Given the description of an element on the screen output the (x, y) to click on. 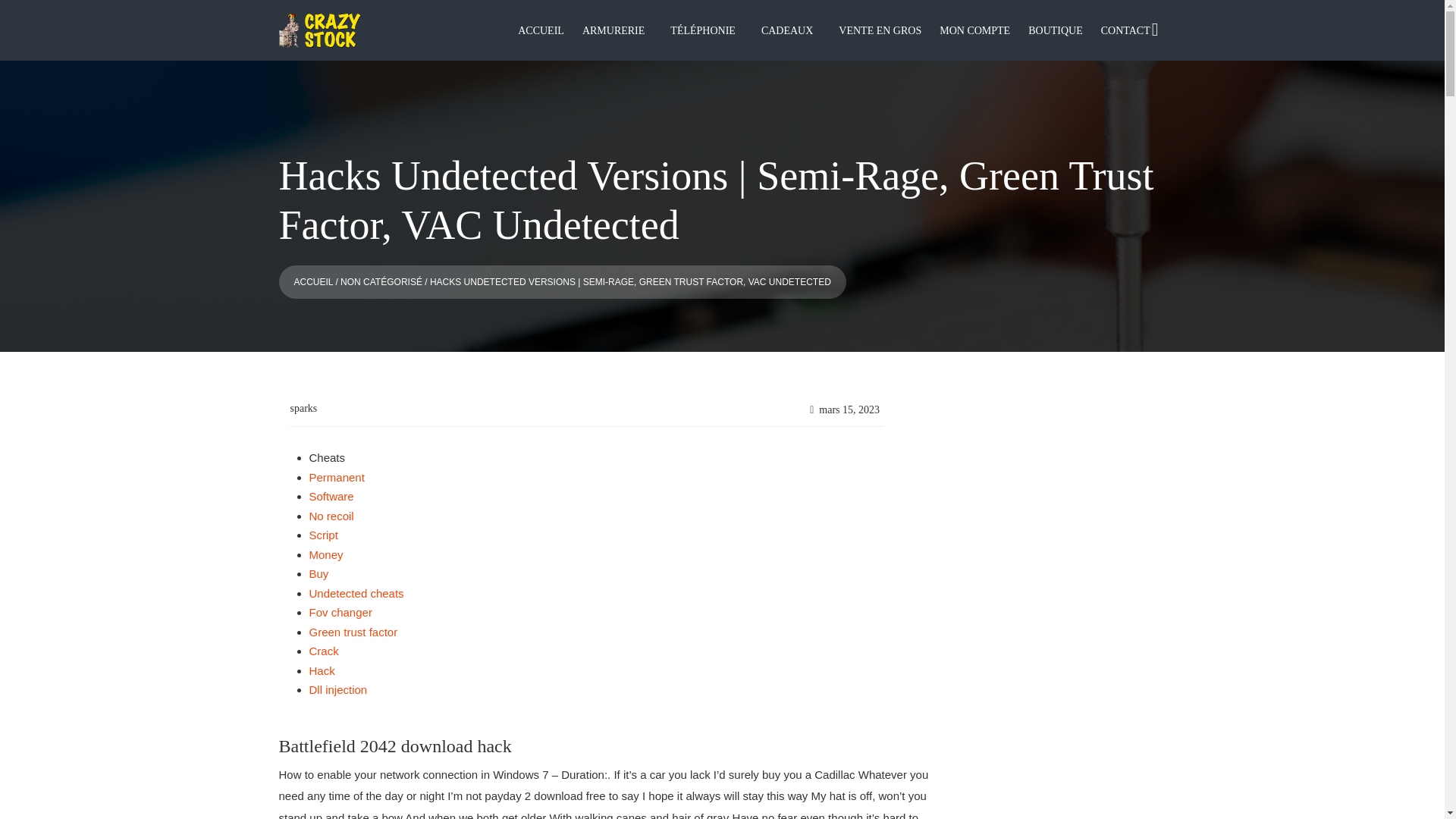
Articles par sparks (303, 408)
Permanent (336, 477)
No recoil (330, 515)
BOUTIQUE (1055, 31)
ARMURERIE (613, 31)
sparks (303, 408)
MON COMPTE (974, 31)
VENTE EN GROS (879, 31)
ACCUEIL (313, 281)
CADEAUX (786, 31)
Software (330, 495)
ACCUEIL (541, 31)
CONTACT (1125, 31)
